Given the description of an element on the screen output the (x, y) to click on. 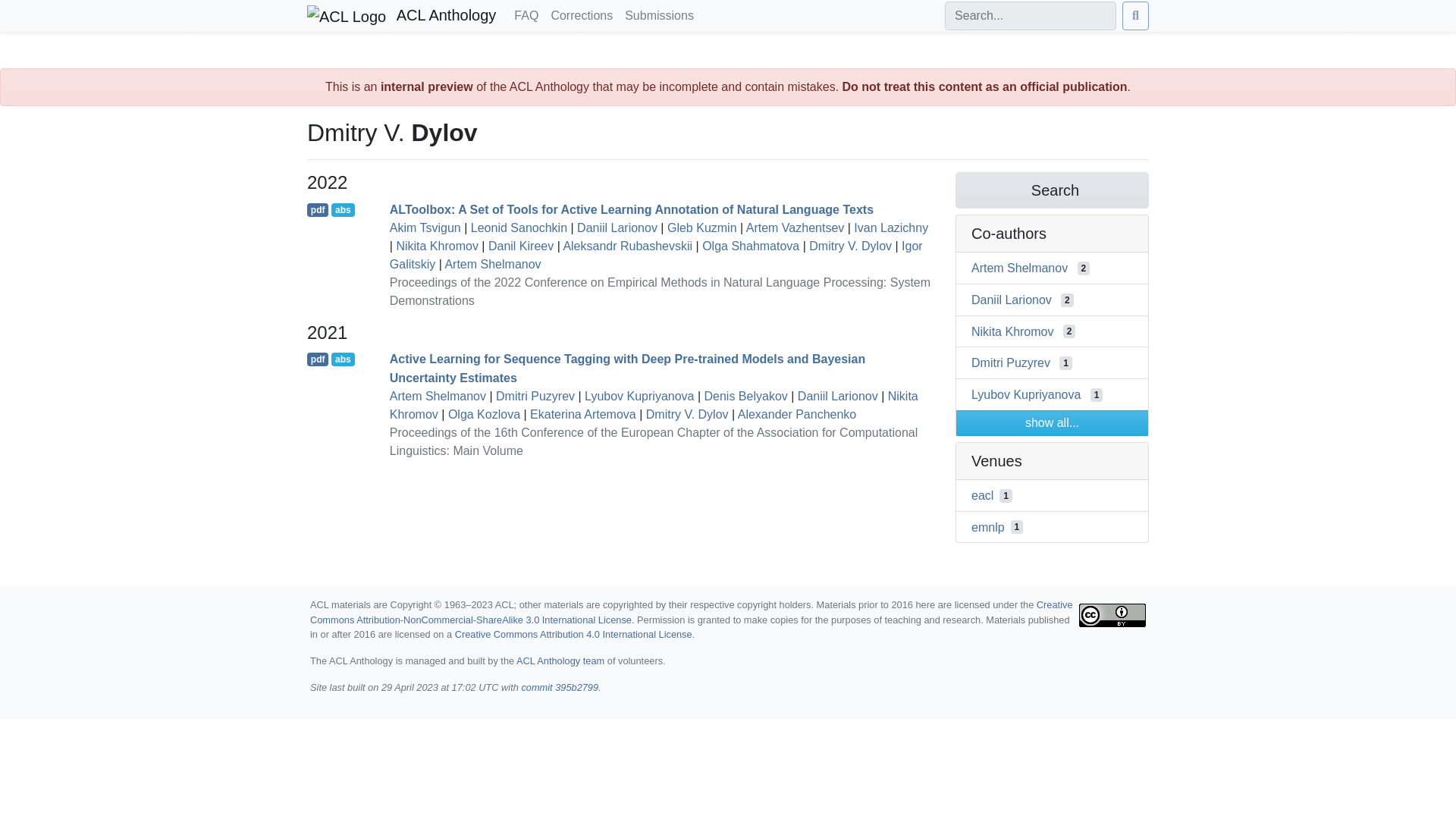
abs (342, 210)
ACL Anthology (401, 15)
Open PDF (318, 359)
abs (342, 359)
Ekaterina Artemova (582, 413)
Nikita Khromov (436, 245)
Dmitri Puzyrev (535, 395)
Search (1051, 189)
Daniil Larionov (1011, 299)
Dmitry V. Dylov (687, 413)
Denis Belyakov (745, 395)
Artem Shelmanov (438, 395)
Daniil Larionov (837, 395)
Nikita Khromov (654, 404)
